Given the description of an element on the screen output the (x, y) to click on. 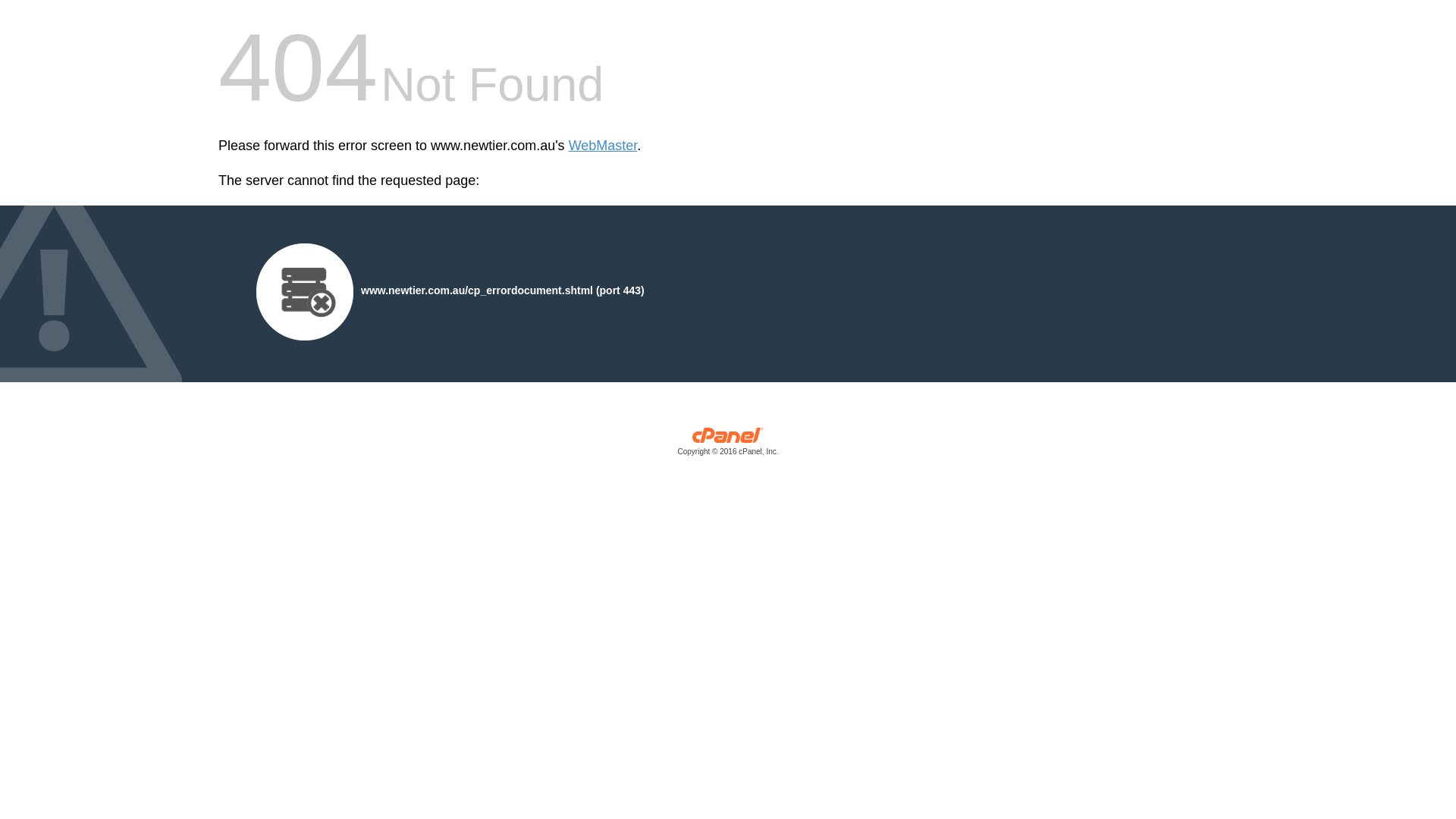
WebMaster Element type: text (602, 145)
